Given the description of an element on the screen output the (x, y) to click on. 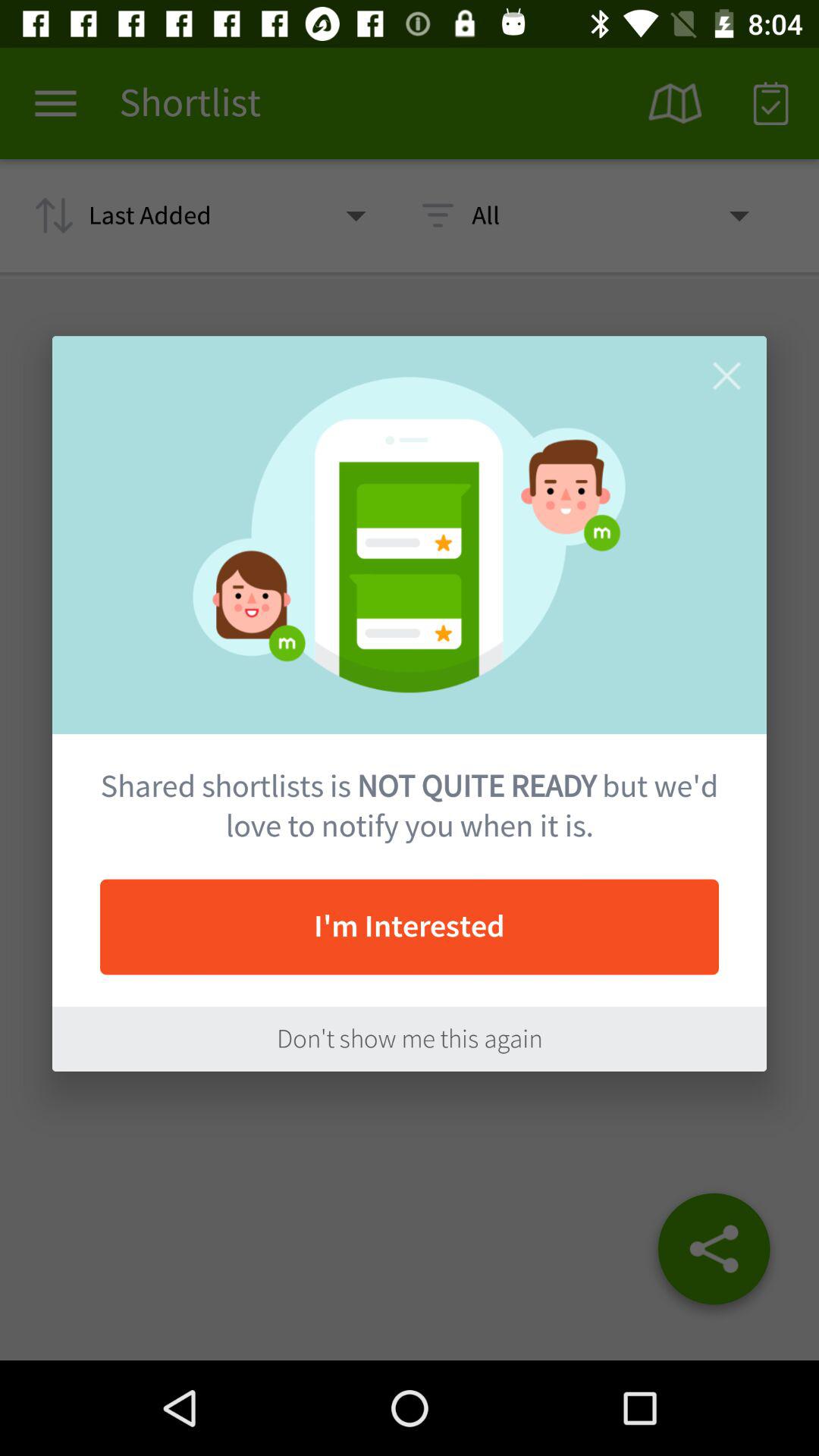
turn off item above shared shortlists is item (726, 375)
